Given the description of an element on the screen output the (x, y) to click on. 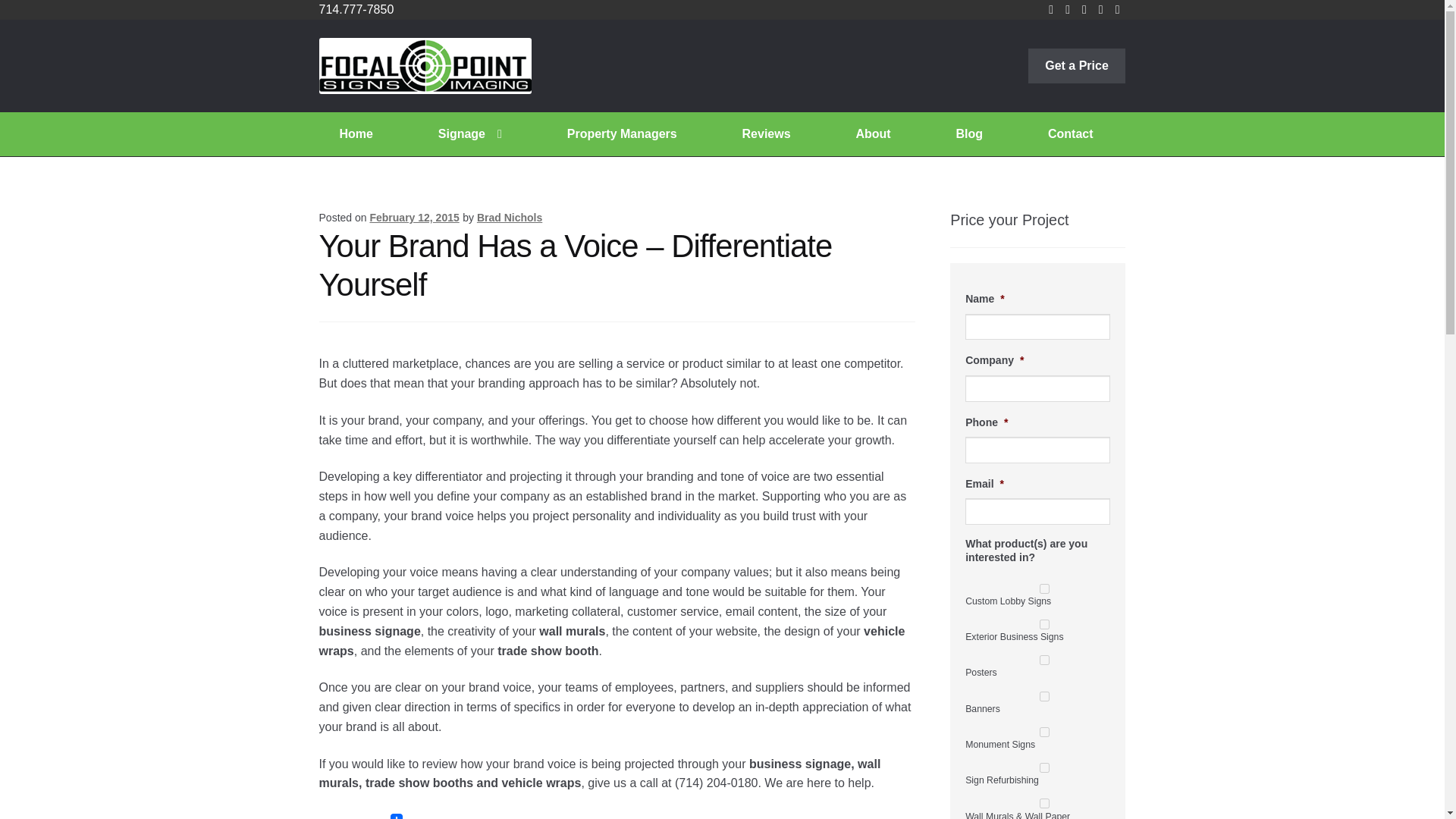
Home (356, 134)
Reviews (767, 134)
Exterior Business Signs (1044, 624)
Monument Signs (1044, 732)
Banners (1044, 696)
Blog (968, 134)
Signage (470, 134)
Property Managers (622, 134)
Get a Price (1076, 65)
Sign Refurbishing (1044, 767)
